Given the description of an element on the screen output the (x, y) to click on. 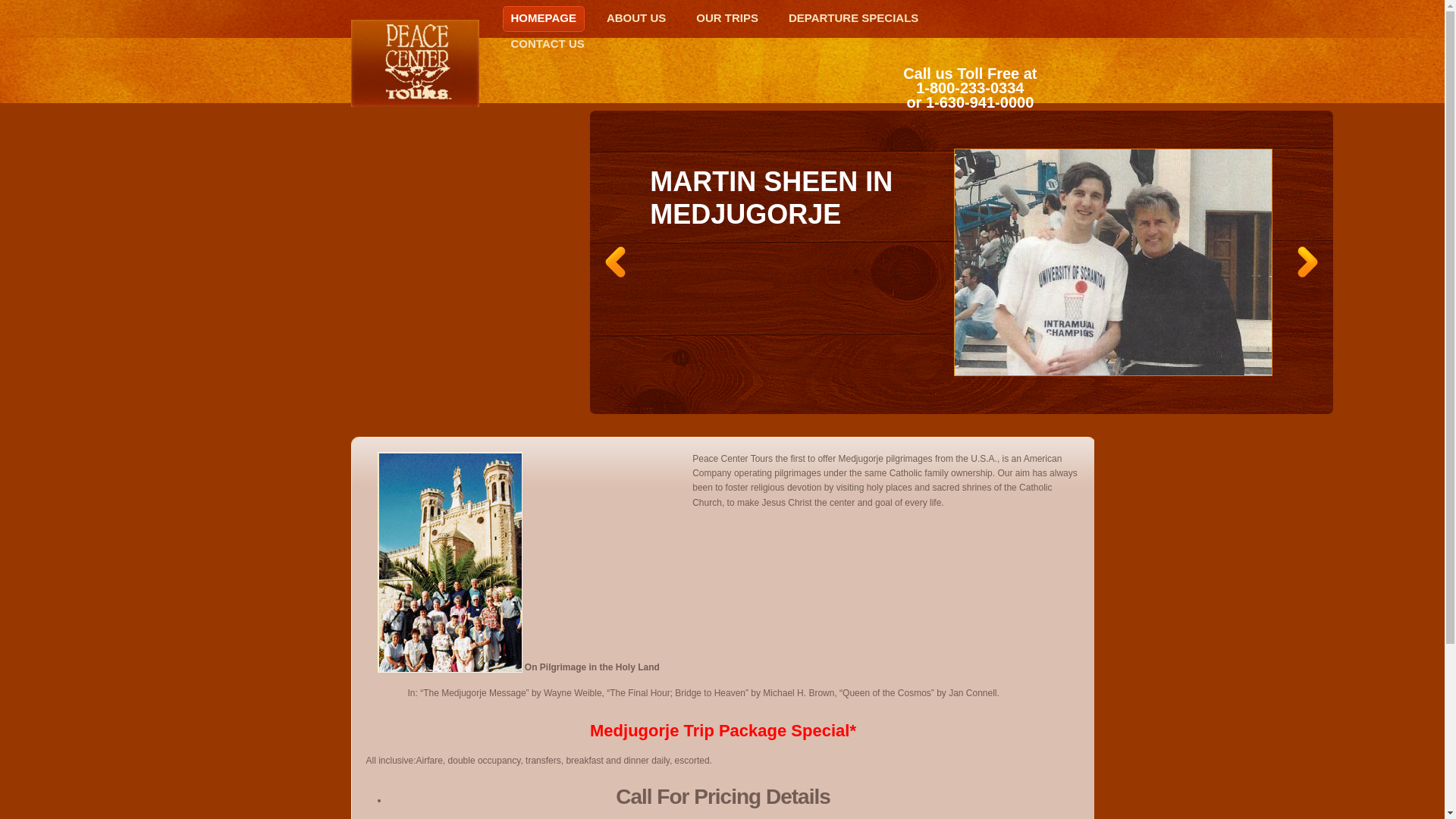
Peace Center Tours (414, 63)
OUR TRIPS (727, 18)
MARTIN SHEEN IN MEDJUGORJE (770, 198)
CONTACT US (547, 44)
HOMEPAGE (542, 18)
ABOUT US (636, 18)
DEPARTURE SPECIALS (853, 18)
